Given the description of an element on the screen output the (x, y) to click on. 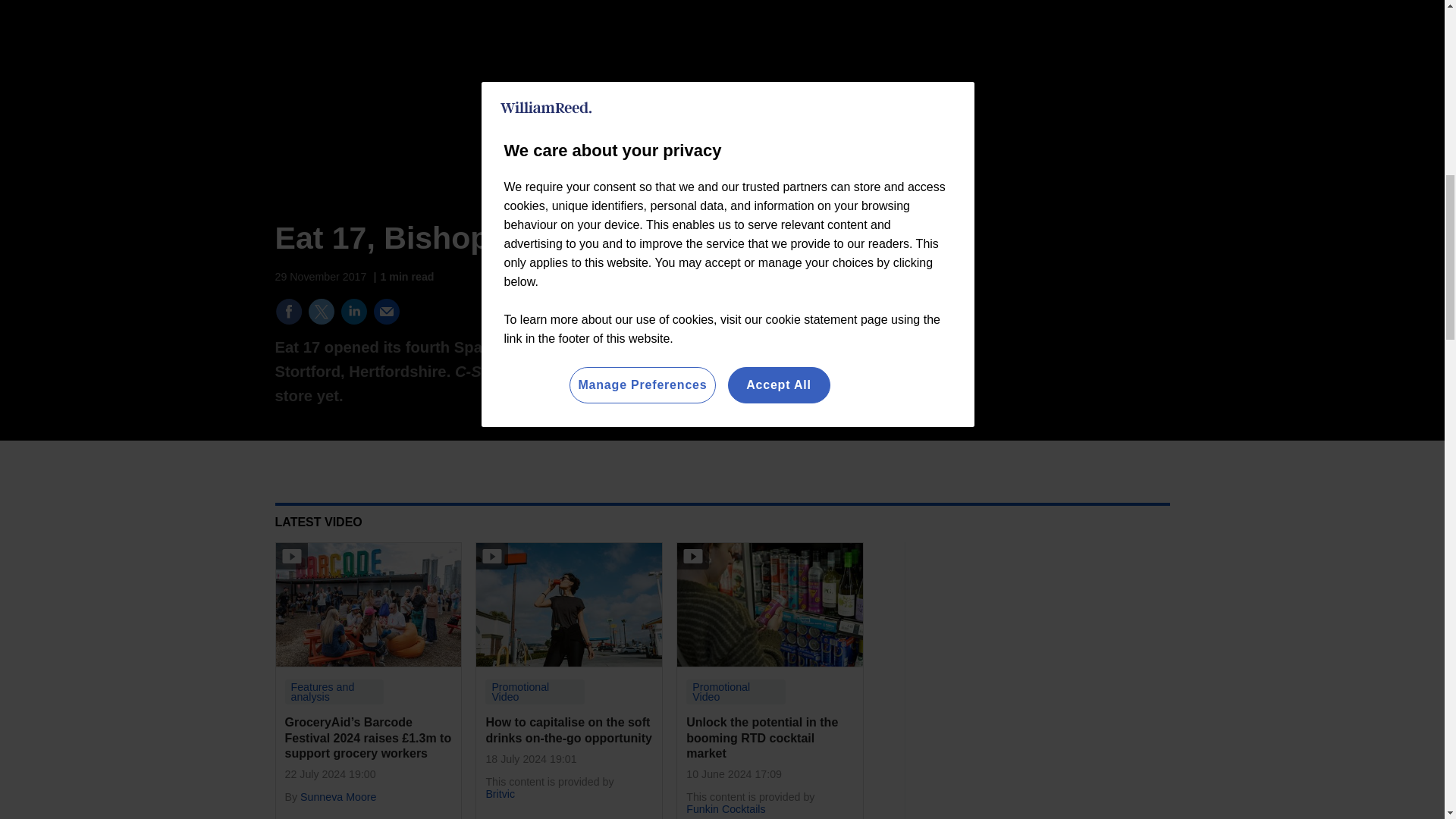
Share this on Facebook (288, 310)
No comments (812, 319)
Share this on Linked in (352, 310)
Email this article (386, 310)
3rd party ad content (1055, 321)
Share this on Twitter (320, 310)
